Given the description of an element on the screen output the (x, y) to click on. 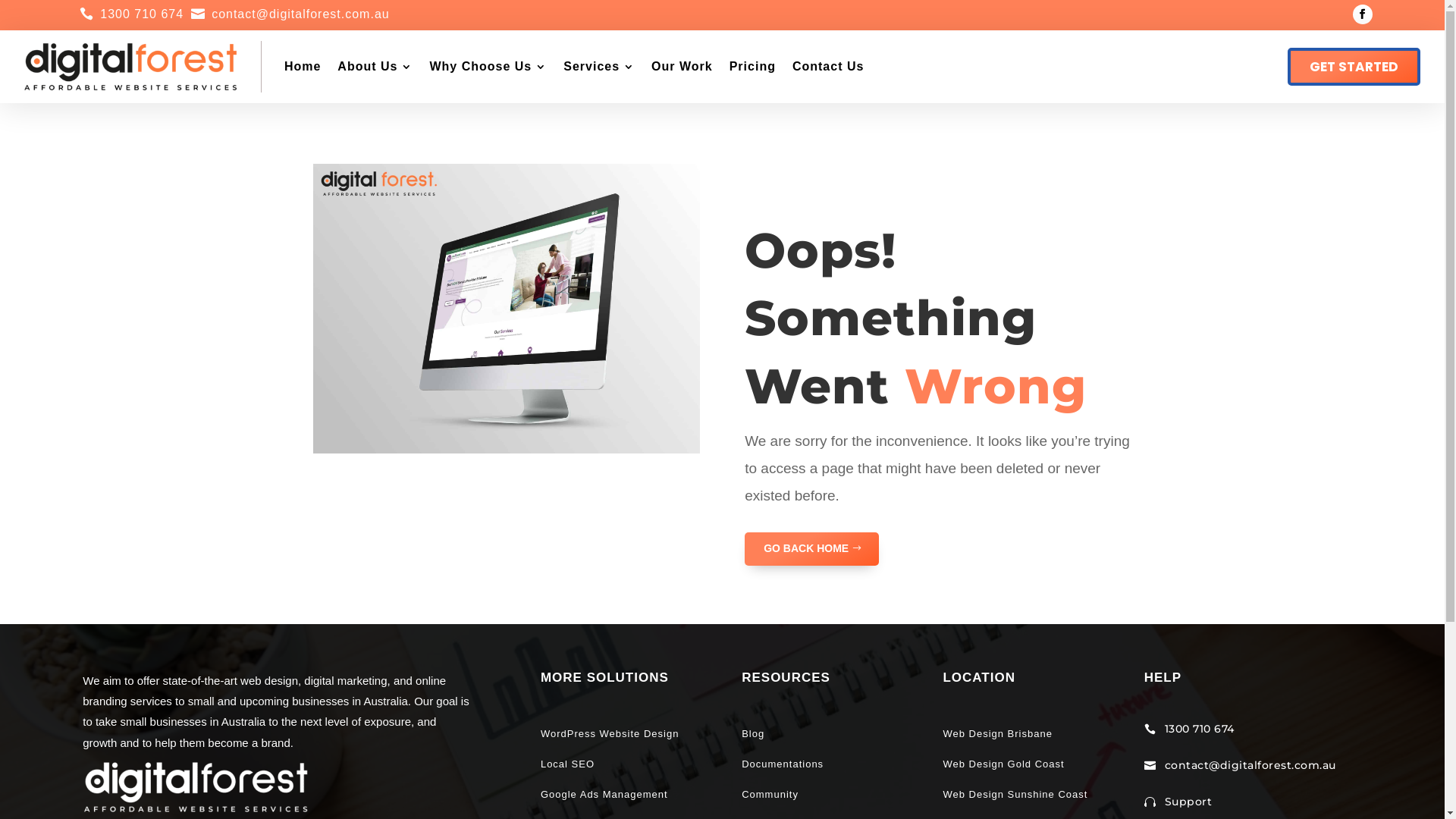
GET STARTED Element type: text (1353, 66)
Local SEO Element type: text (567, 763)
Digital Forest - Affordable Website Design Company Australia Element type: hover (196, 785)
Services Element type: text (598, 66)
Support Element type: text (1188, 801)
GO BACK HOME Element type: text (811, 548)
Web Design Gold Coast Element type: text (1002, 763)
Pricing Element type: text (752, 66)
Web Design Brisbane Element type: text (997, 733)
Follow on Facebook Element type: hover (1362, 14)
Our Work Element type: text (681, 66)
1300 710 674 Element type: text (141, 13)
WordPress Website Design  Element type: text (611, 733)
Contact Us Element type: text (827, 66)
Documentations Element type: text (782, 763)
Web Design Sunshine Coast Element type: text (1014, 794)
About Us Element type: text (374, 66)
Blog Element type: text (752, 733)
Why Choose Us Element type: text (487, 66)
Google Ads Management  Element type: text (605, 794)
Community Element type: text (769, 794)
website design company Element type: hover (505, 308)
contact@digitalforest.com.au Element type: text (300, 13)
Home Element type: text (302, 66)
